Given the description of an element on the screen output the (x, y) to click on. 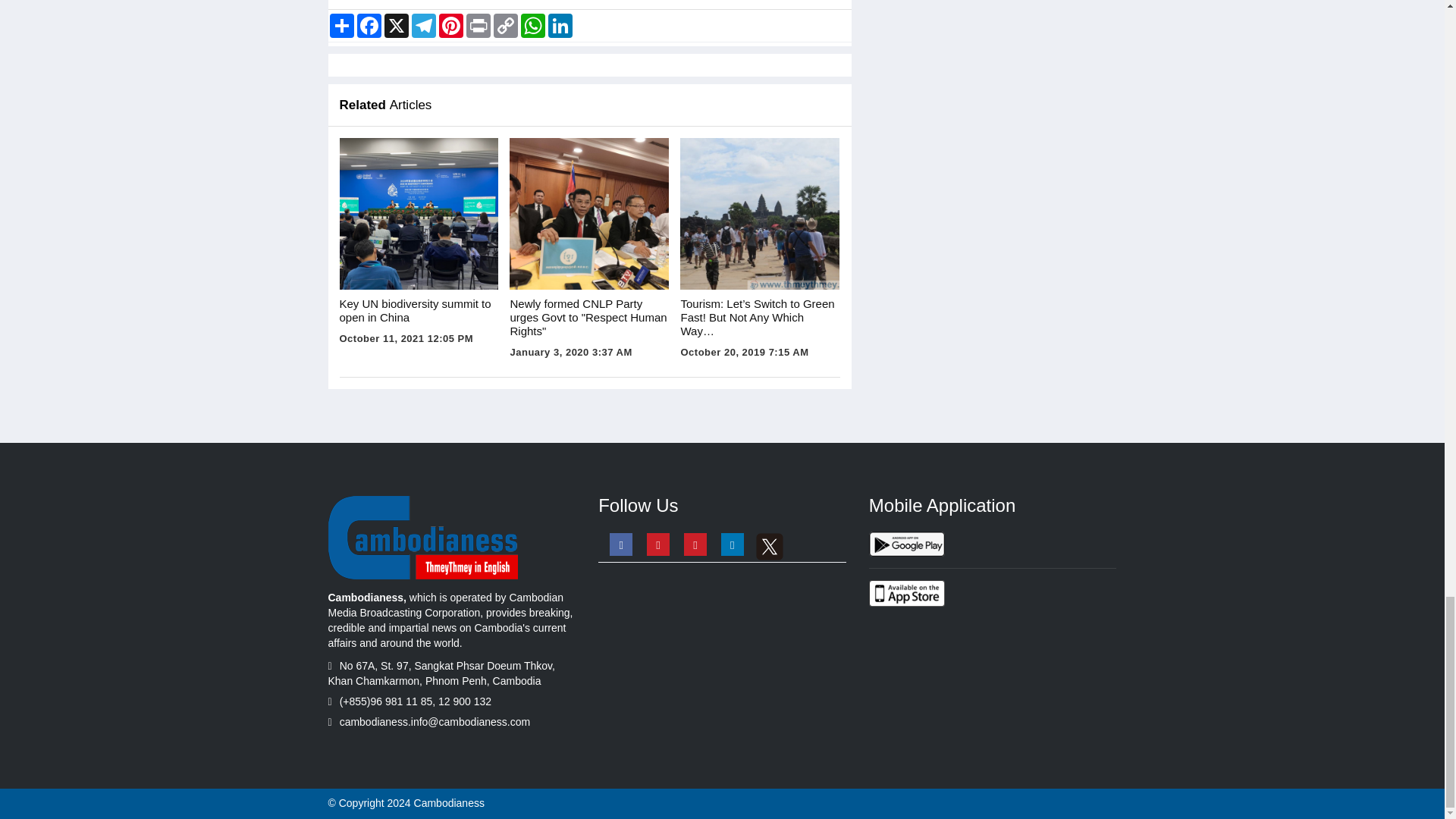
Newly formed CNLP Party urges Govt to "Respect Human Rights" (588, 213)
Key UN biodiversity summit to open in China (419, 213)
